Given the description of an element on the screen output the (x, y) to click on. 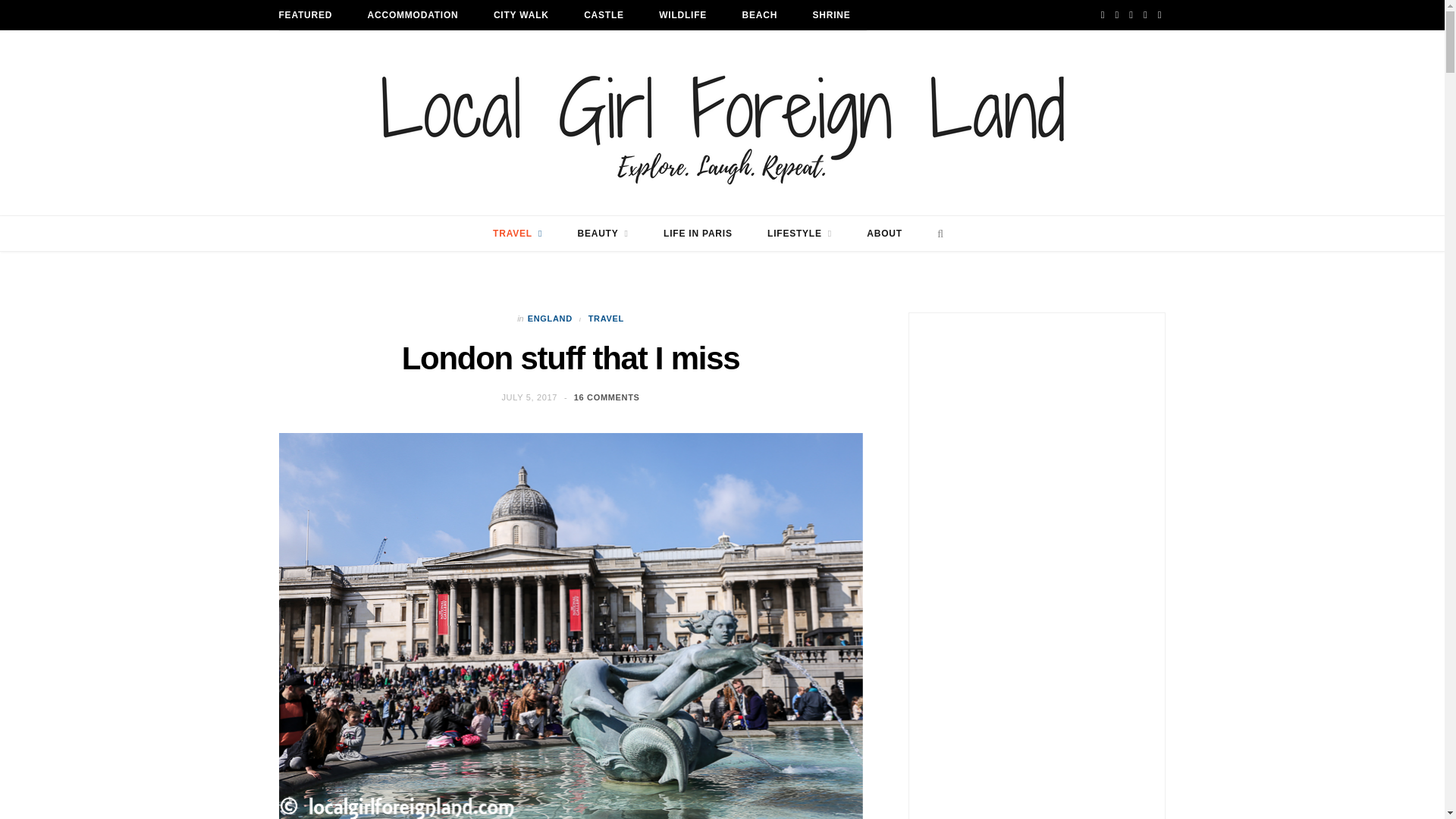
CASTLE (603, 15)
CITY WALK (520, 15)
TRAVEL (517, 233)
BEACH (759, 15)
Local Girl Foreign Land (721, 122)
WILDLIFE (682, 15)
FEATURED (304, 15)
ACCOMMODATION (413, 15)
SHRINE (831, 15)
